Given the description of an element on the screen output the (x, y) to click on. 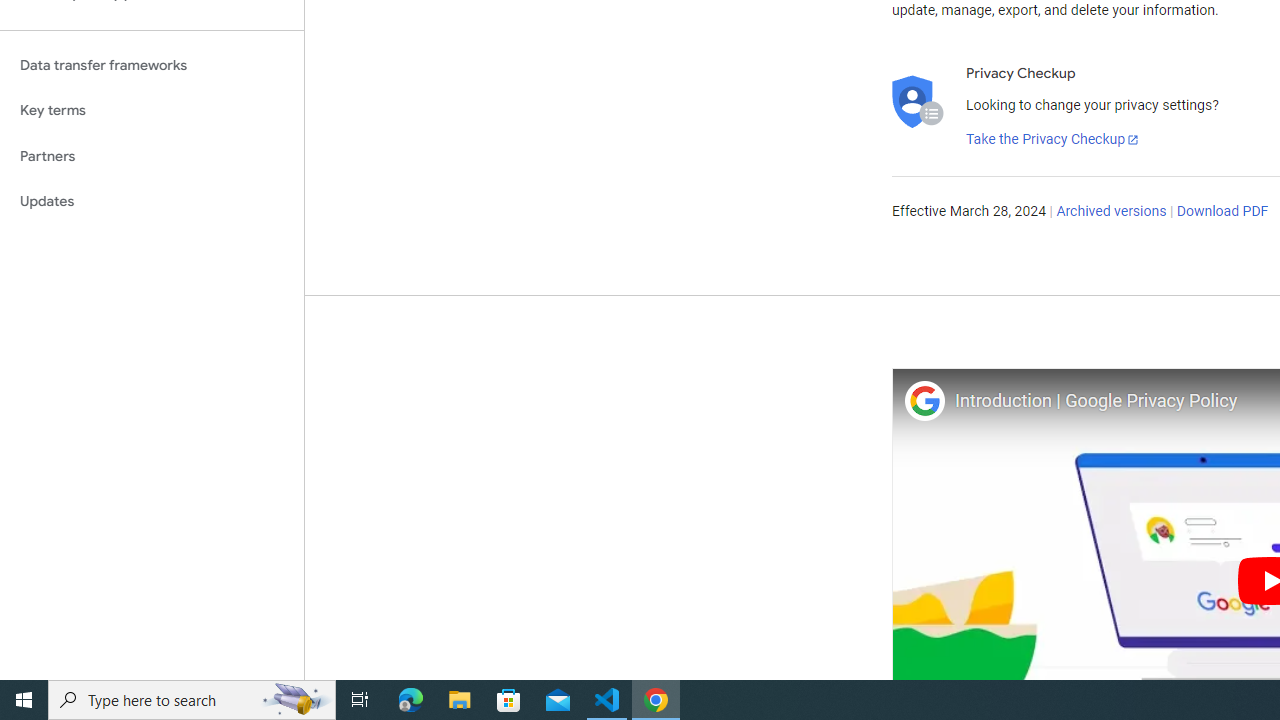
Take the Privacy Checkup (1053, 140)
Archived versions (1111, 212)
Download PDF (1222, 212)
Photo image of Google (924, 400)
